Given the description of an element on the screen output the (x, y) to click on. 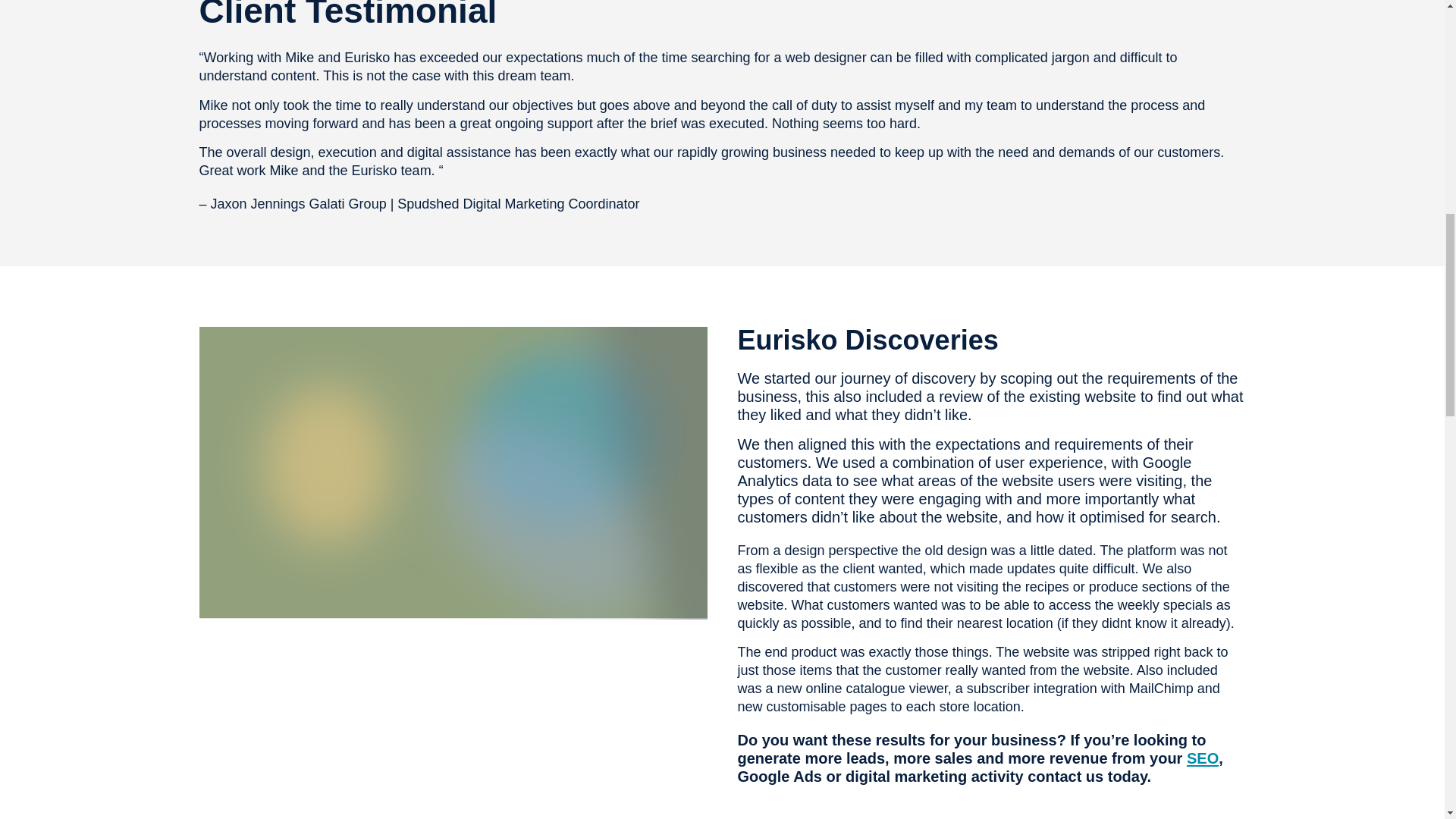
SEO (1202, 758)
